Given the description of an element on the screen output the (x, y) to click on. 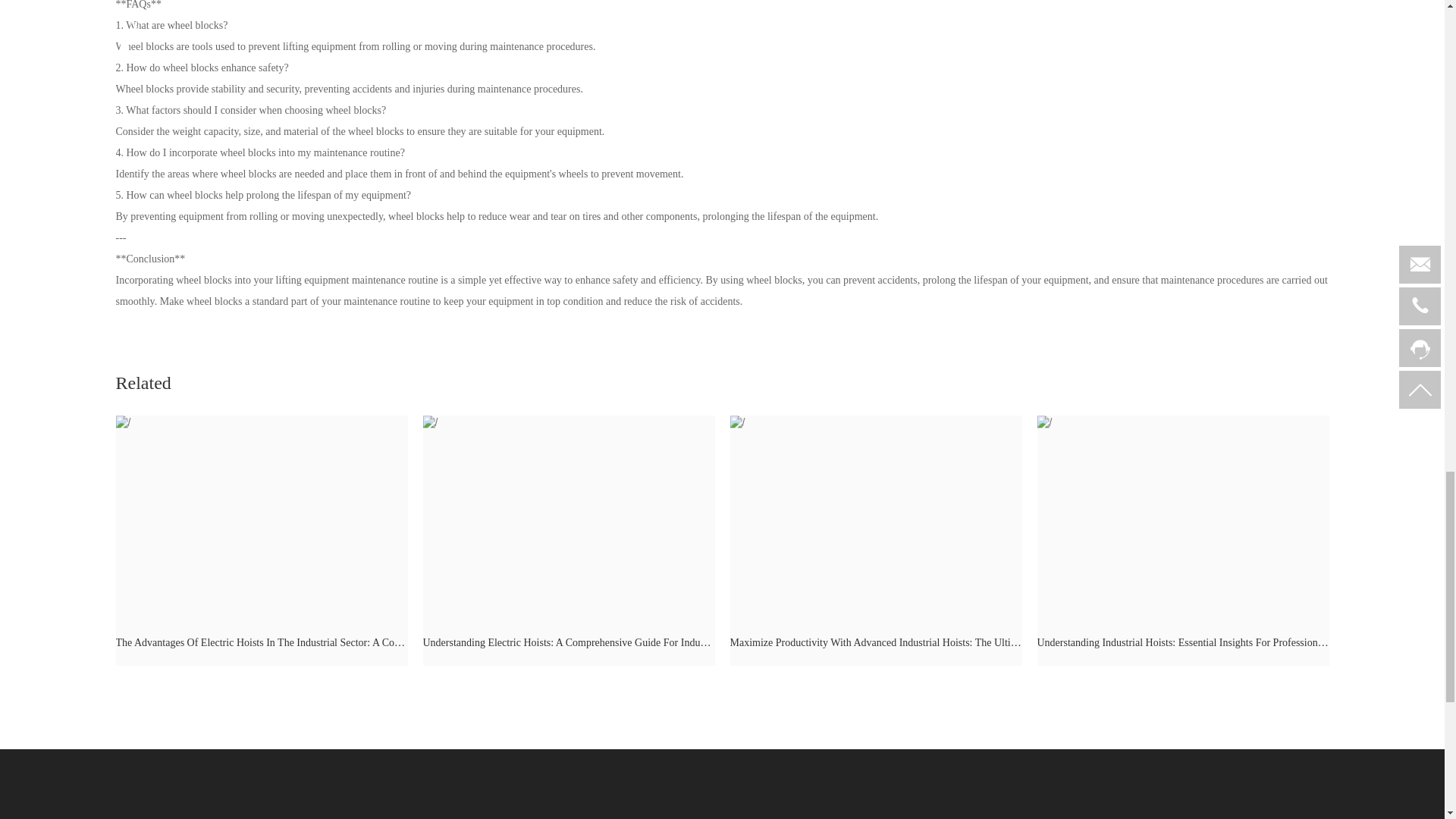
The (261, 517)
Understanding (568, 517)
Understanding (1182, 517)
Maximize (875, 517)
